Given the description of an element on the screen output the (x, y) to click on. 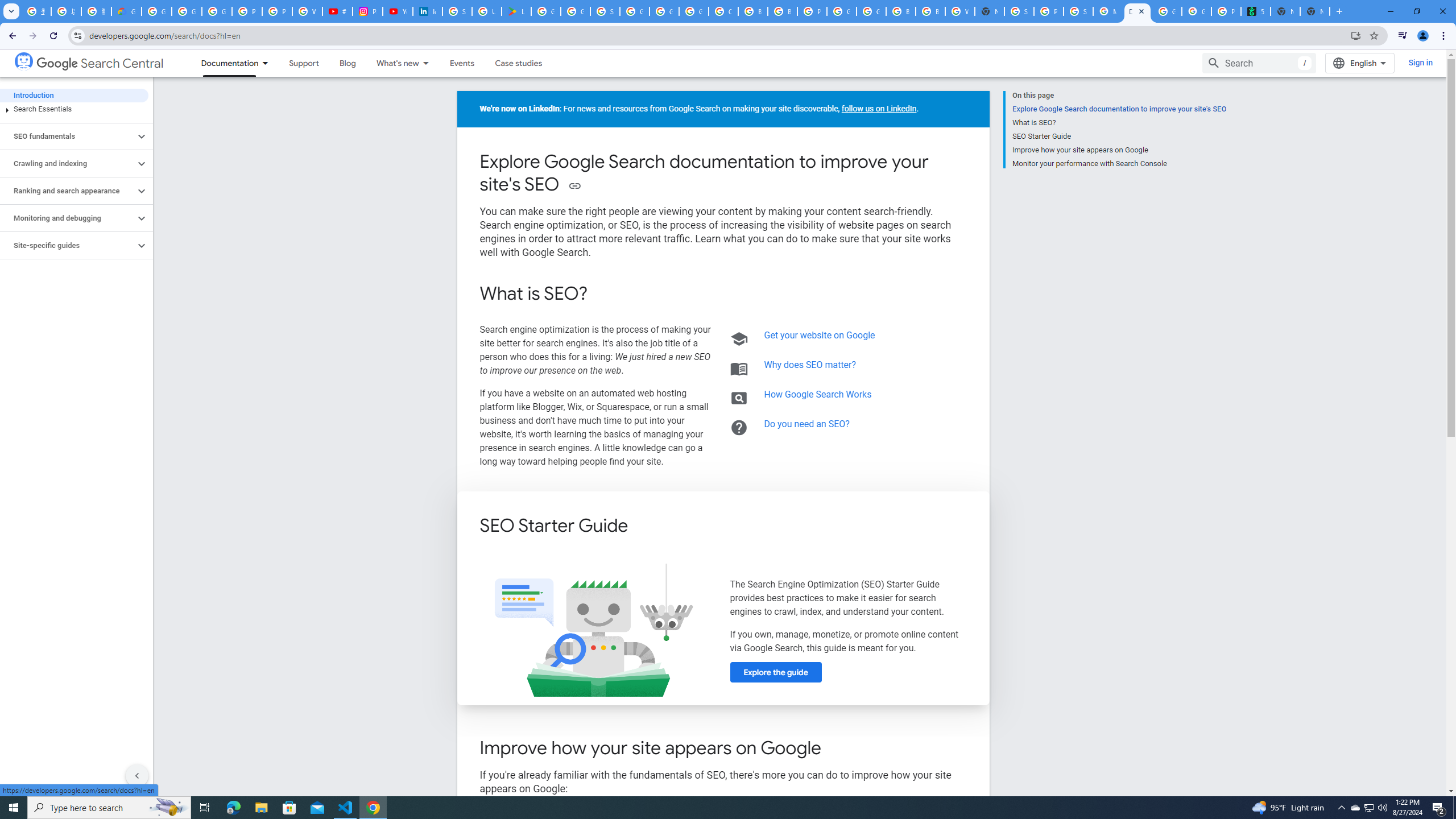
Google Cloud Platform (871, 11)
Site-specific guides (67, 245)
Monitor your performance with Search Console (1118, 162)
Monitoring and debugging (67, 218)
Google Search Central (99, 63)
Blog (347, 62)
New Tab (1314, 11)
Google Search Central (23, 60)
Install Google Developers (1355, 35)
